Given the description of an element on the screen output the (x, y) to click on. 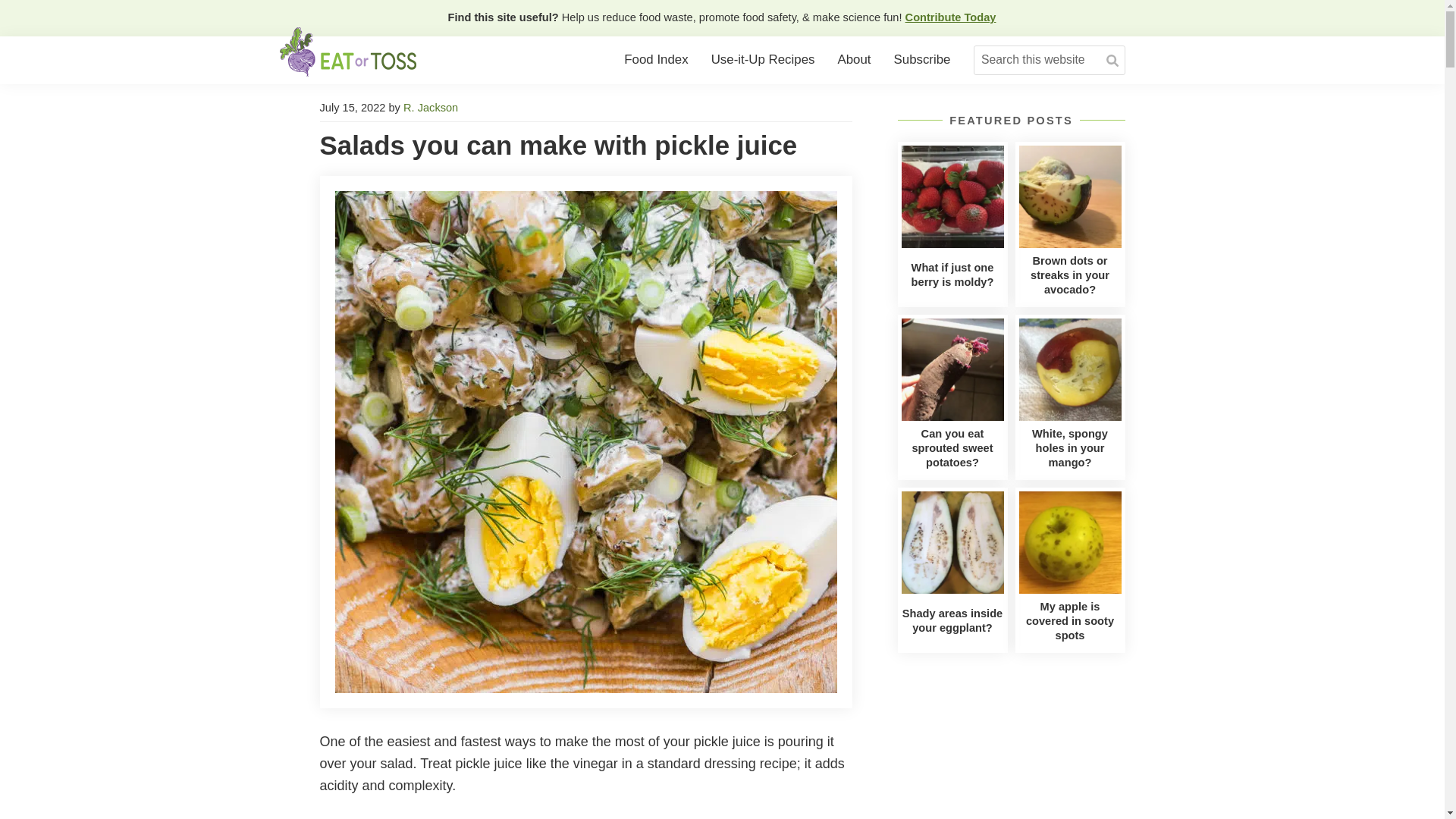
Submit search (1111, 60)
About (853, 60)
Submit search (1111, 60)
Use-it-Up Recipes (763, 60)
Subscribe (922, 60)
Subscribe (922, 60)
Submit search (1111, 60)
R. Jackson (430, 107)
Contribute Today (951, 17)
